Given the description of an element on the screen output the (x, y) to click on. 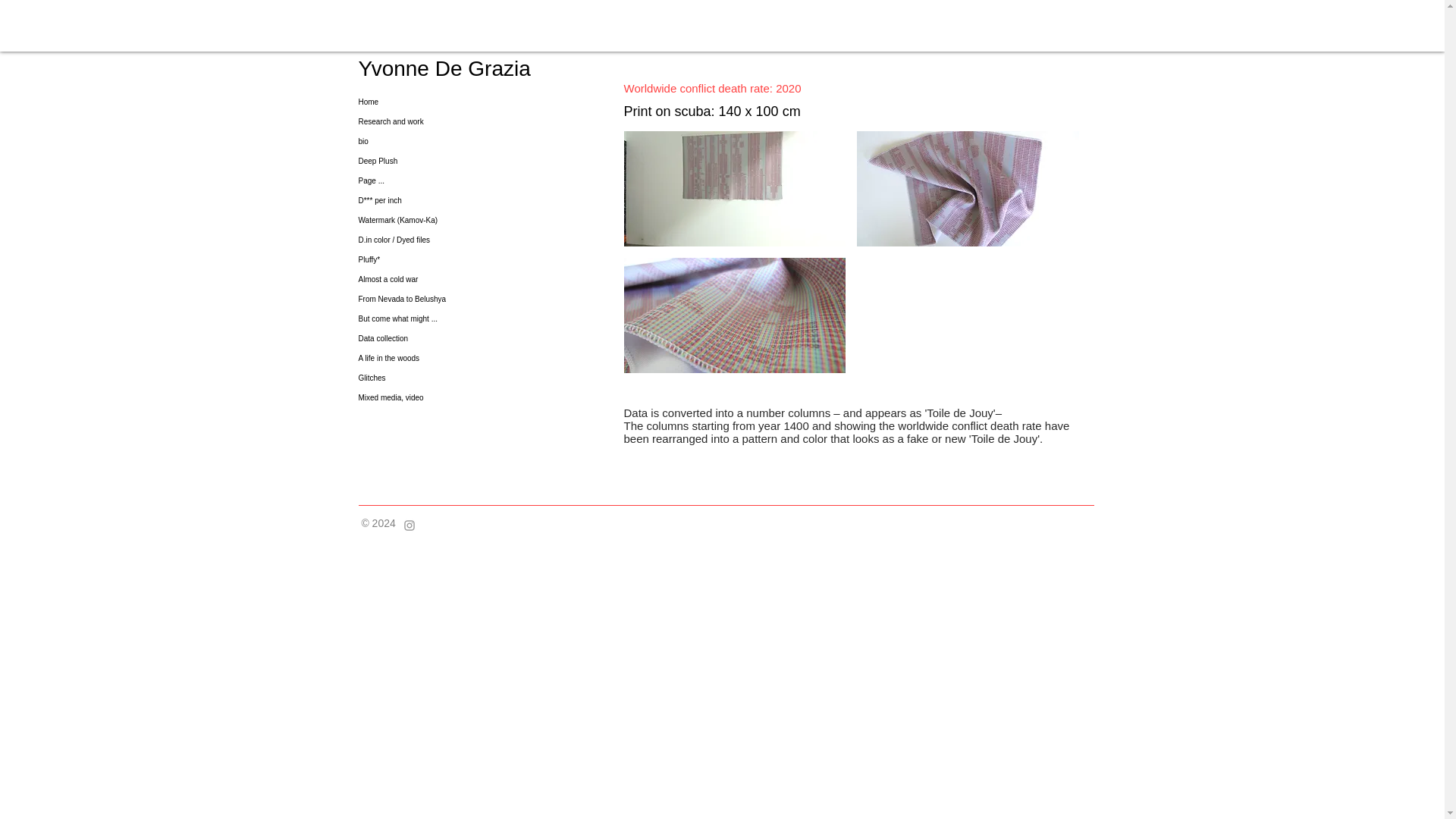
bio (445, 141)
Glitches (445, 378)
Mixed media, video (445, 397)
A life in the woods (445, 358)
Deep Plush (445, 161)
Almost a cold war (445, 279)
Yvonne  (395, 68)
Page ... (445, 180)
Research and work (445, 121)
From Nevada to Belushya (445, 299)
